Given the description of an element on the screen output the (x, y) to click on. 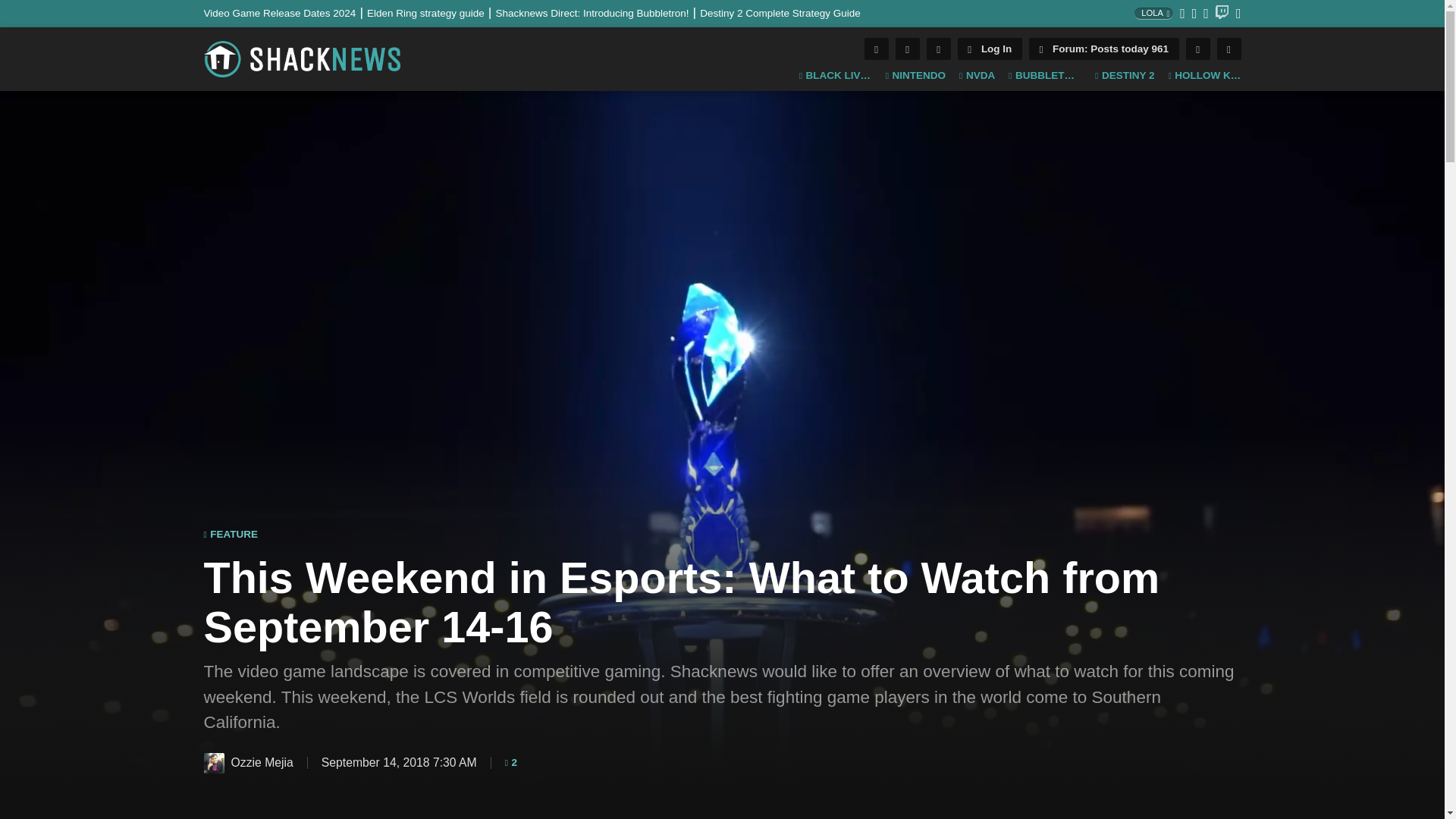
Elden Ring strategy guide (430, 11)
BLACK LIVES MATTER (835, 75)
DESTINY 2 (1124, 75)
NINTENDO (914, 75)
NVDA (976, 75)
FEATURE (230, 534)
BUBBLETRON (1045, 75)
Destiny 2 Complete Strategy Guide (780, 11)
Video Game Release Dates 2024 (284, 11)
Shacknews Direct: Introducing Bubbletron! (597, 11)
Ozzie Mejia (213, 762)
HOLLOW KNIGHT: SILKSONG (1203, 75)
